Given the description of an element on the screen output the (x, y) to click on. 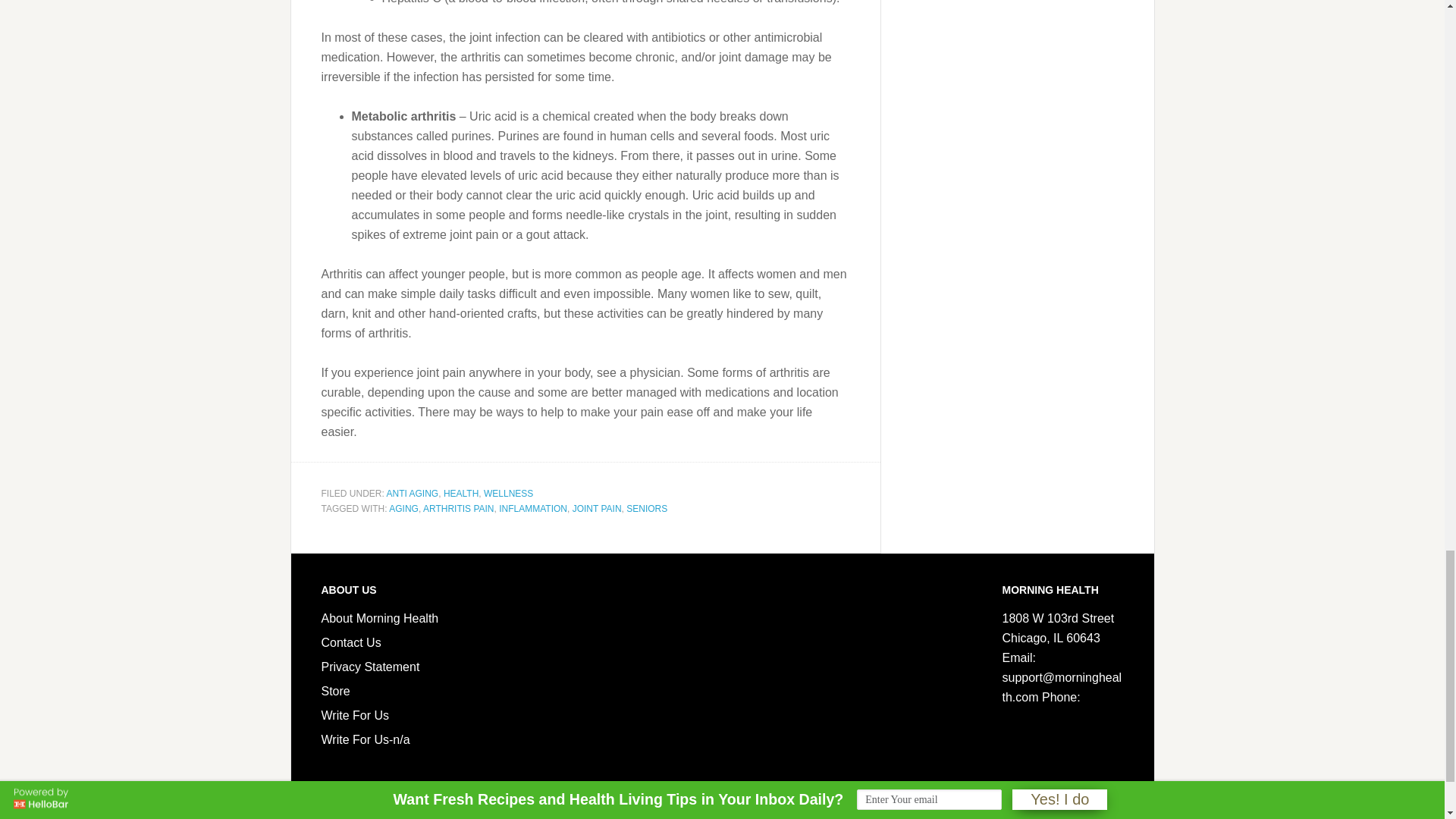
SENIORS (646, 508)
About Morning Health (380, 617)
INFLAMMATION (533, 508)
JOINT PAIN (596, 508)
AGING (403, 508)
ARTHRITIS PAIN (459, 508)
Contact Us (351, 642)
HEALTH (461, 493)
ANTI AGING (413, 493)
WELLNESS (507, 493)
